Given the description of an element on the screen output the (x, y) to click on. 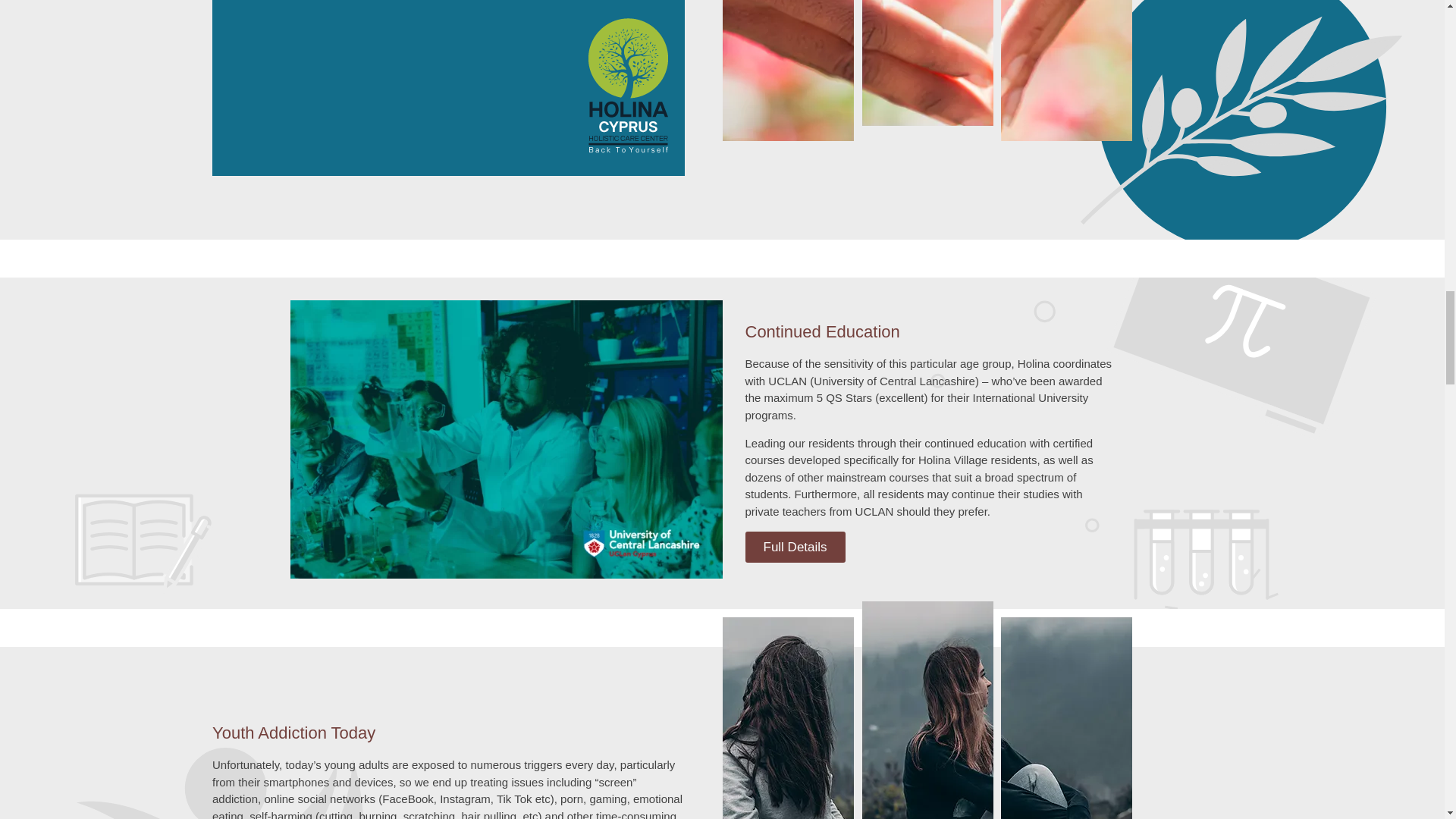
Full Details (794, 546)
